Given the description of an element on the screen output the (x, y) to click on. 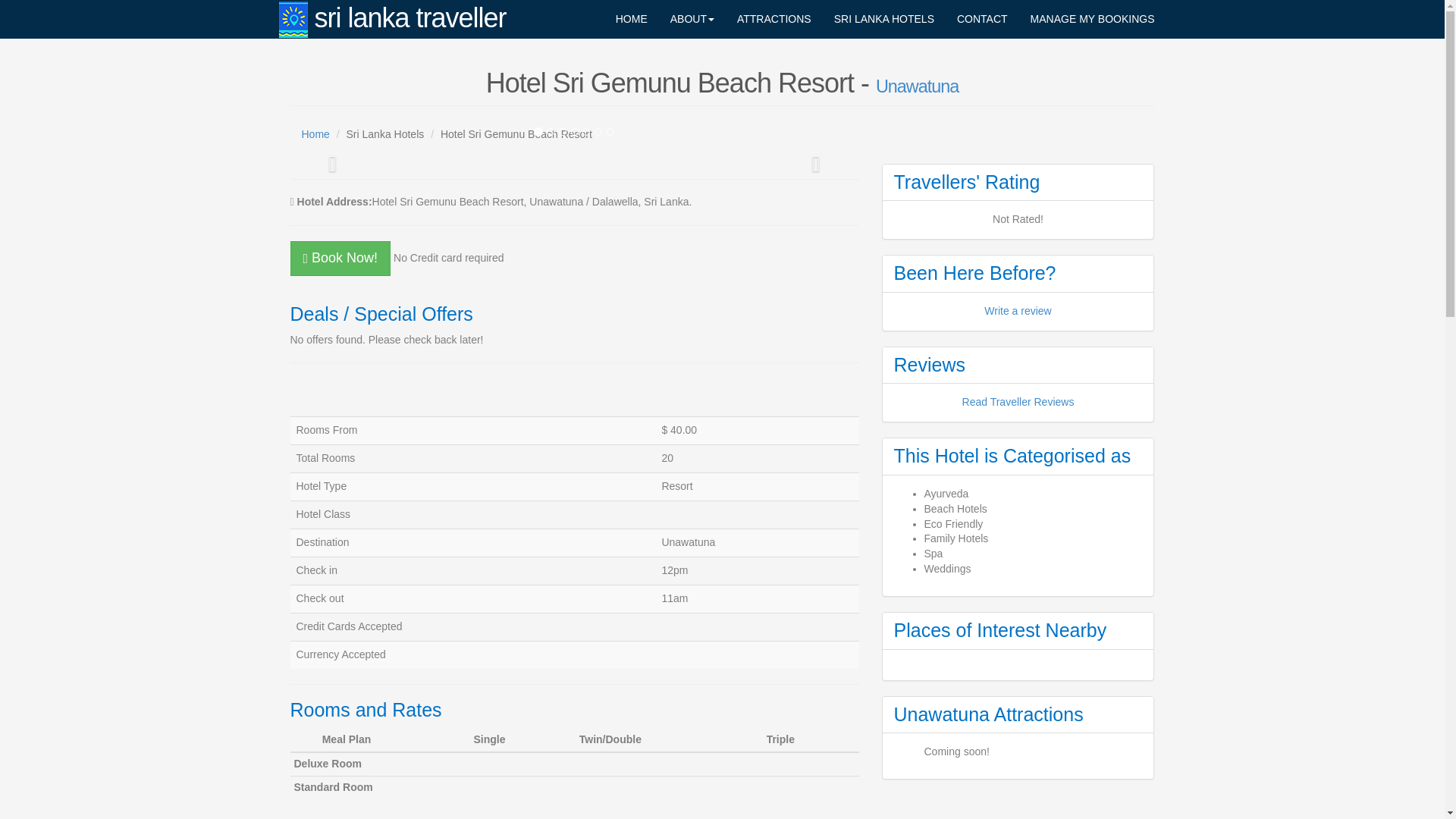
CONTACT (981, 18)
ABOUT (692, 18)
HOME (631, 18)
Home (315, 133)
Book Now! (339, 258)
ATTRACTIONS (773, 18)
MANAGE MY BOOKINGS (1092, 18)
Write a review (1017, 310)
sri lanka traveller (392, 18)
Read Traveller Reviews (1018, 401)
